Given the description of an element on the screen output the (x, y) to click on. 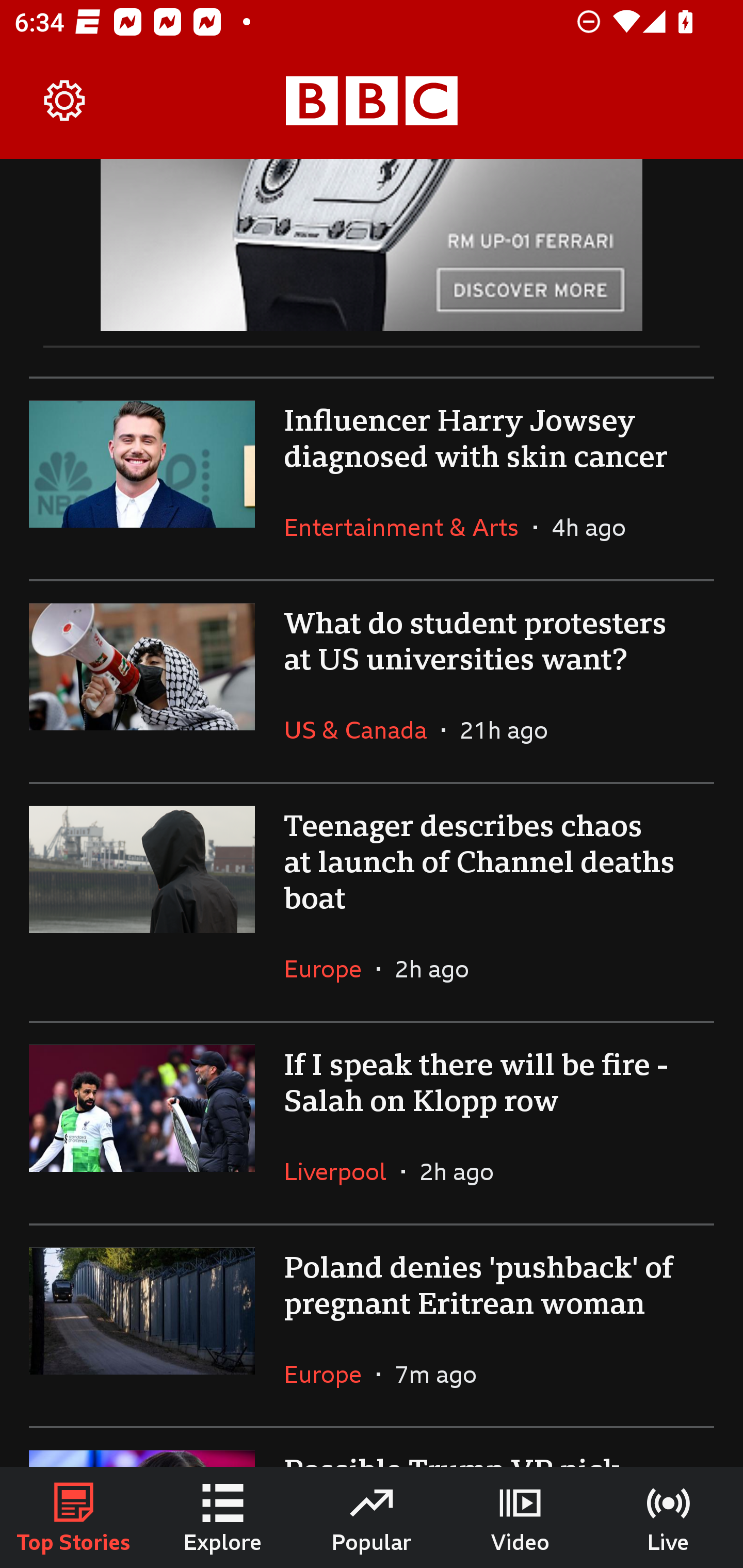
Settings (64, 100)
US & Canada In the section US & Canada (362, 729)
Europe In the section Europe (329, 968)
Liverpool In the section Liverpool (342, 1171)
Europe In the section Europe (329, 1373)
Explore (222, 1517)
Popular (371, 1517)
Video (519, 1517)
Live (668, 1517)
